Given the description of an element on the screen output the (x, y) to click on. 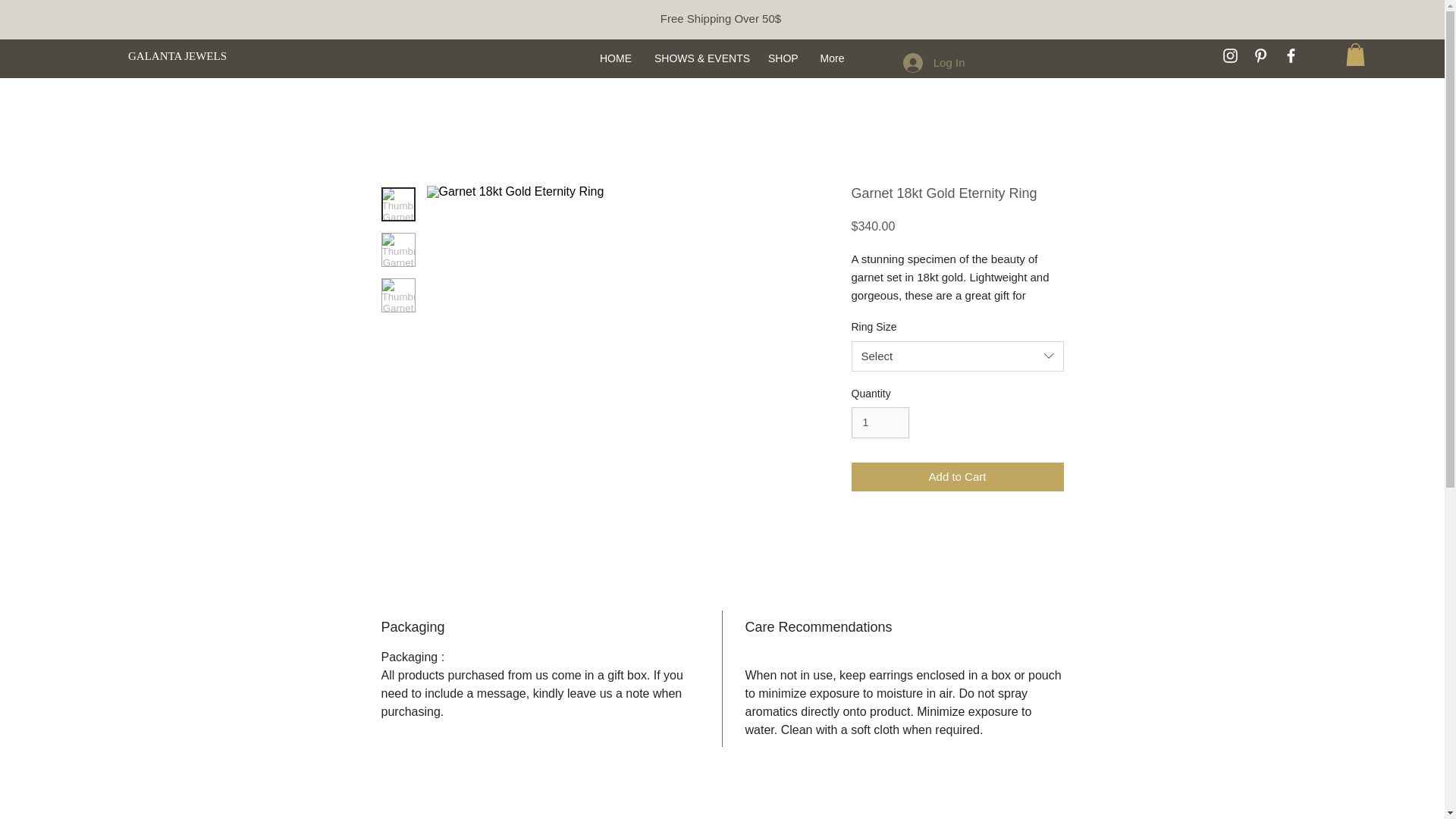
HOME (615, 58)
Log In (933, 62)
GALANTA JEWELS (180, 55)
Add to Cart (956, 477)
SHOP (782, 58)
1 (879, 422)
Select (956, 356)
